Given the description of an element on the screen output the (x, y) to click on. 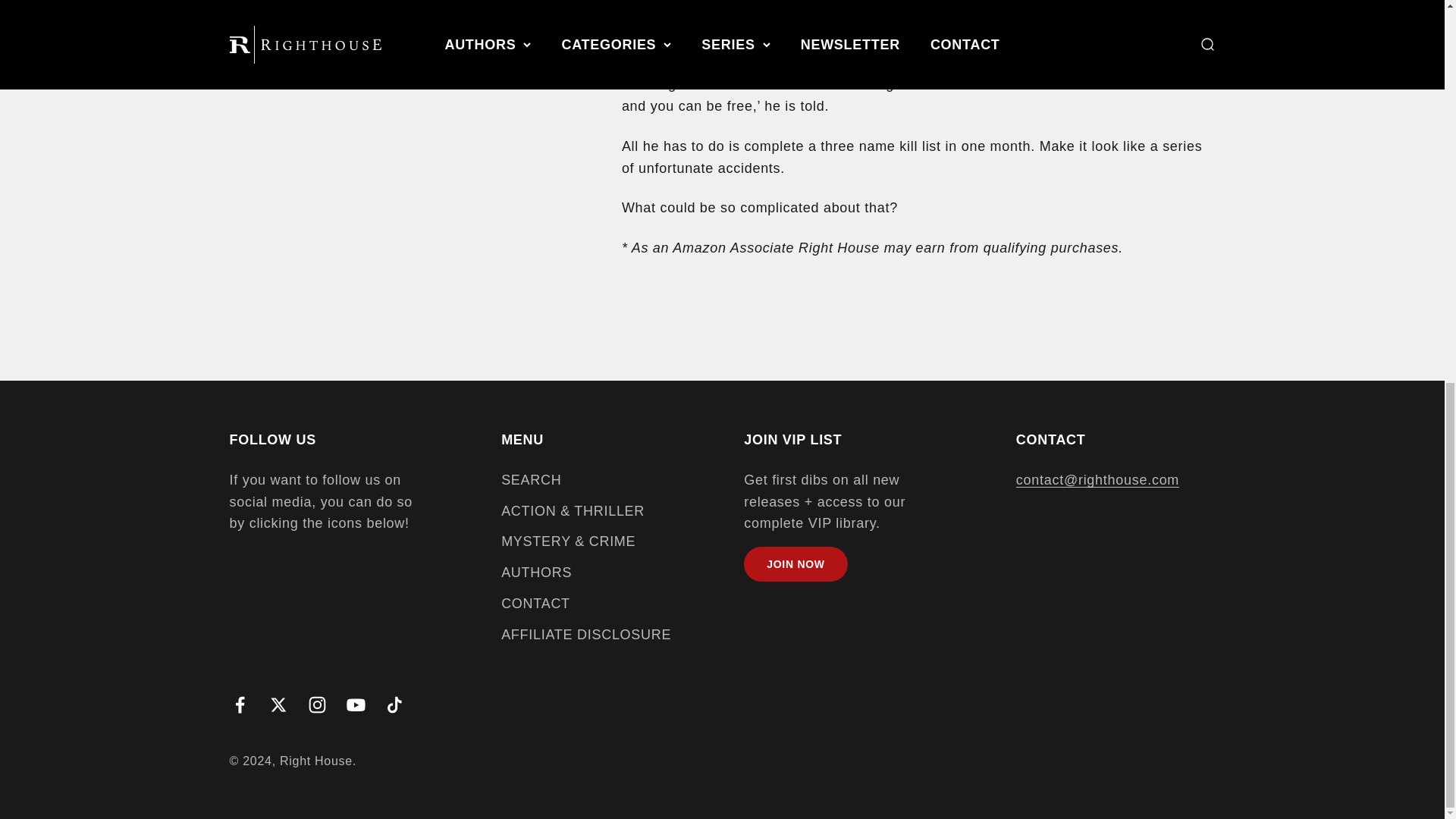
Newsletter (795, 564)
